Given the description of an element on the screen output the (x, y) to click on. 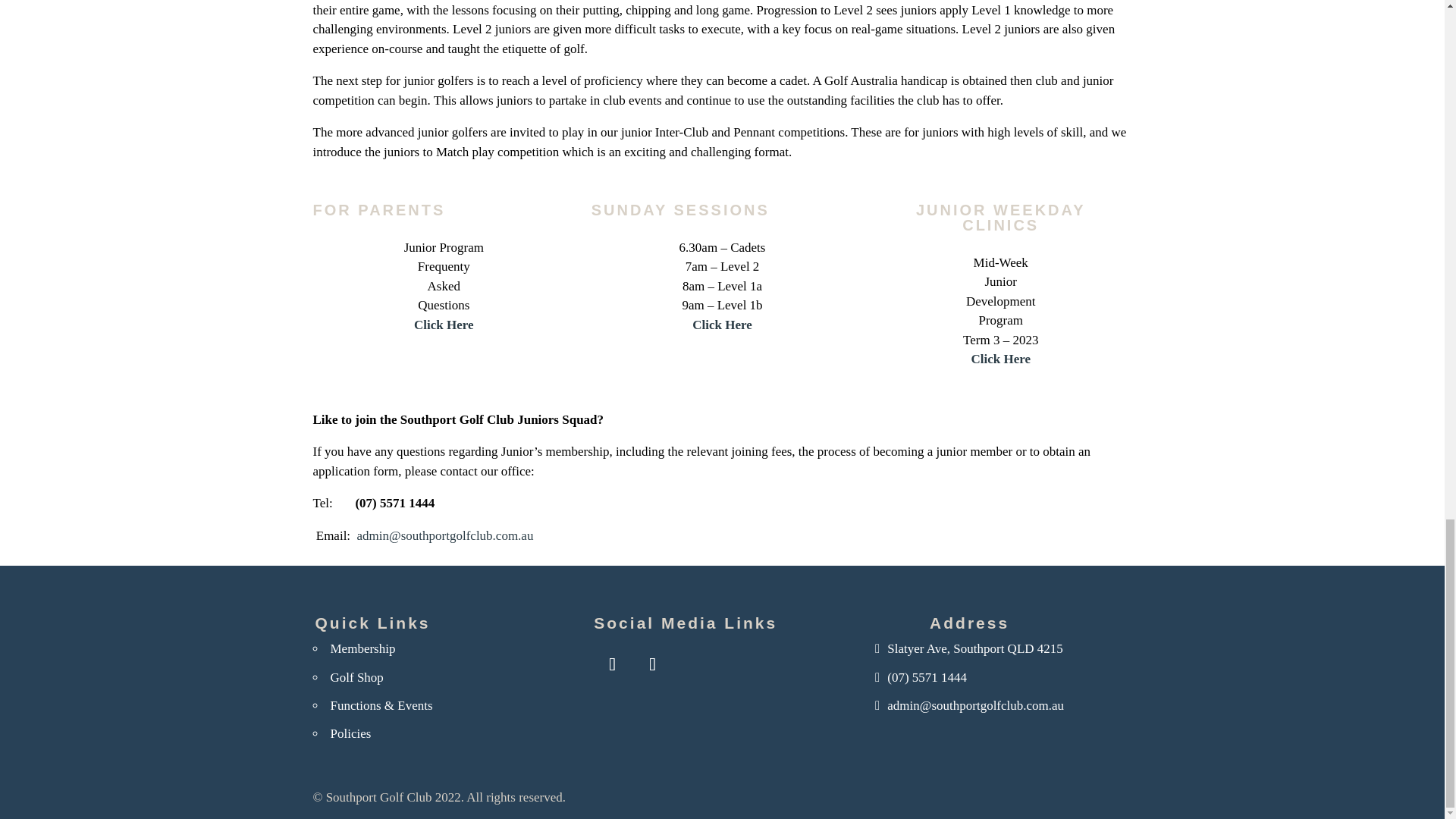
Click Here (722, 324)
Click Here (1000, 359)
Click Here (443, 324)
